Given the description of an element on the screen output the (x, y) to click on. 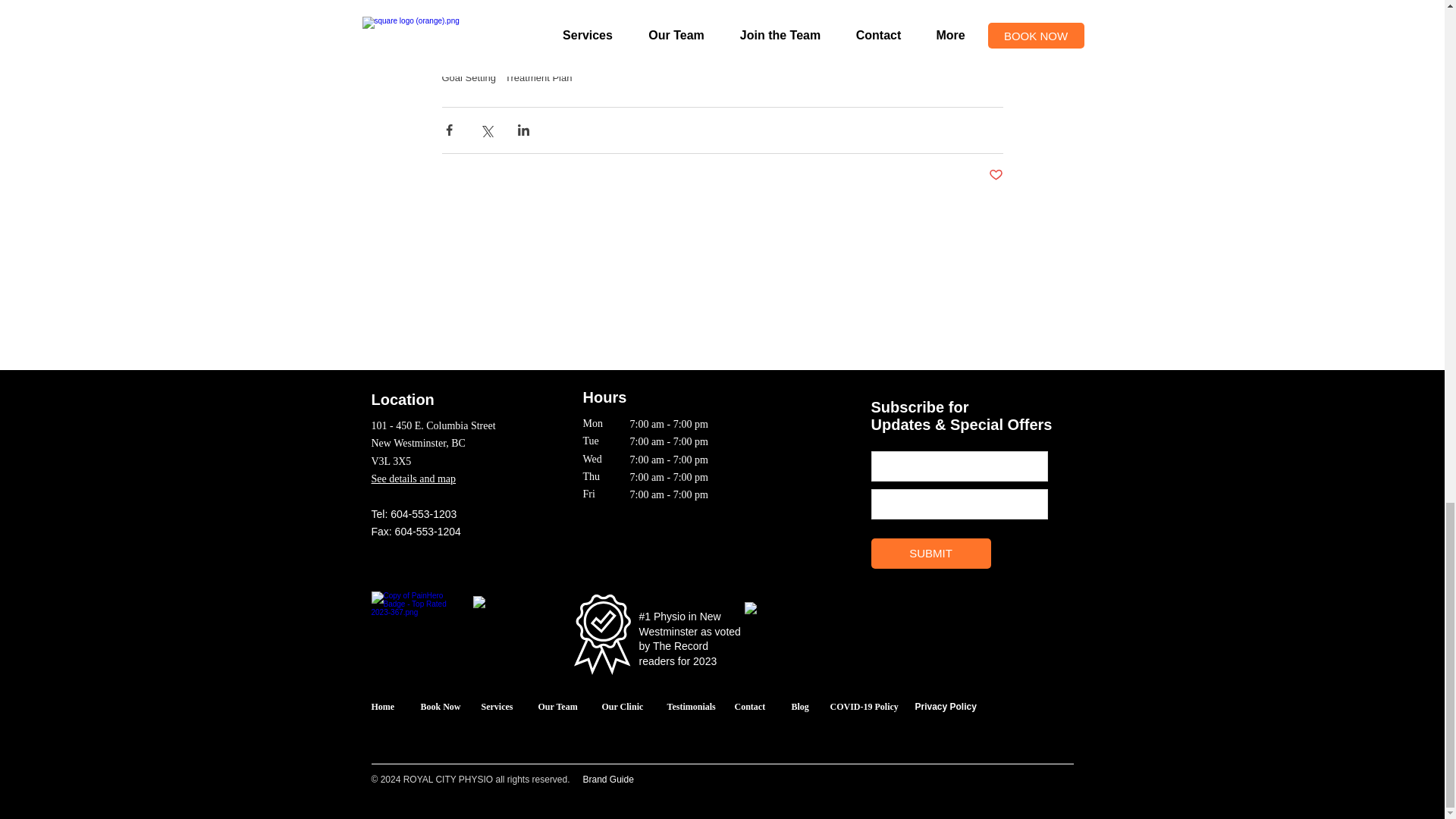
Brand Guide (607, 778)
Our Team (558, 705)
Privacy Policy (944, 706)
Book with Mikaela today (692, 5)
Services (496, 705)
Blog (800, 705)
Book Now (440, 705)
Our Clinic (622, 705)
COVID-19 Policy        (864, 712)
Contact (749, 705)
